Given the description of an element on the screen output the (x, y) to click on. 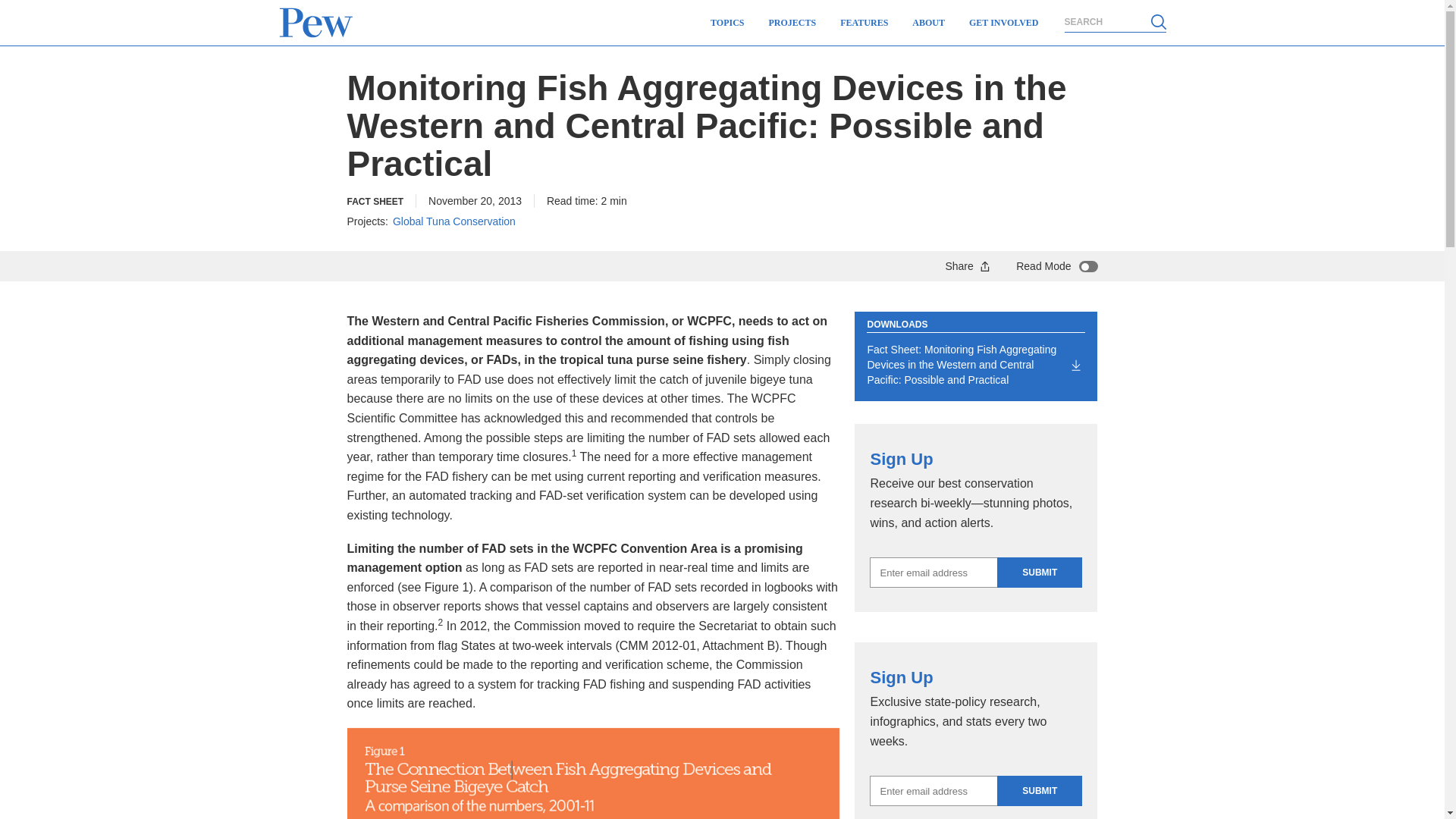
Submit (1039, 790)
tuna-fig1 (593, 773)
PROJECTS (792, 22)
Submit (1039, 572)
TOPICS (726, 22)
